Given the description of an element on the screen output the (x, y) to click on. 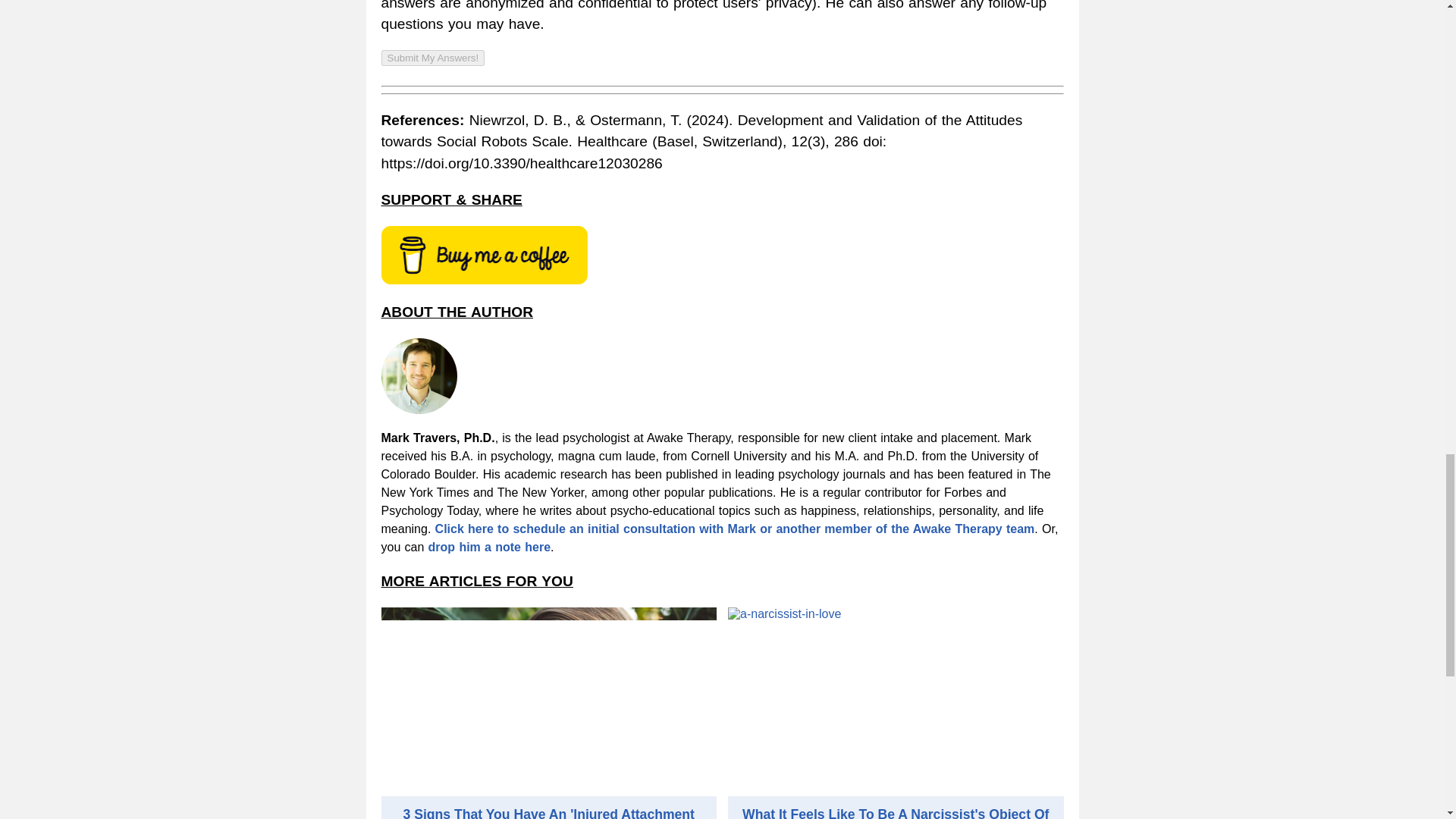
Submit My Answers! (432, 57)
drop him a note here (489, 546)
What It Feels Like To Be A Narcissist's Object Of Love (895, 812)
3 Signs That You Have An 'Injured Attachment Style' (548, 812)
